Given the description of an element on the screen output the (x, y) to click on. 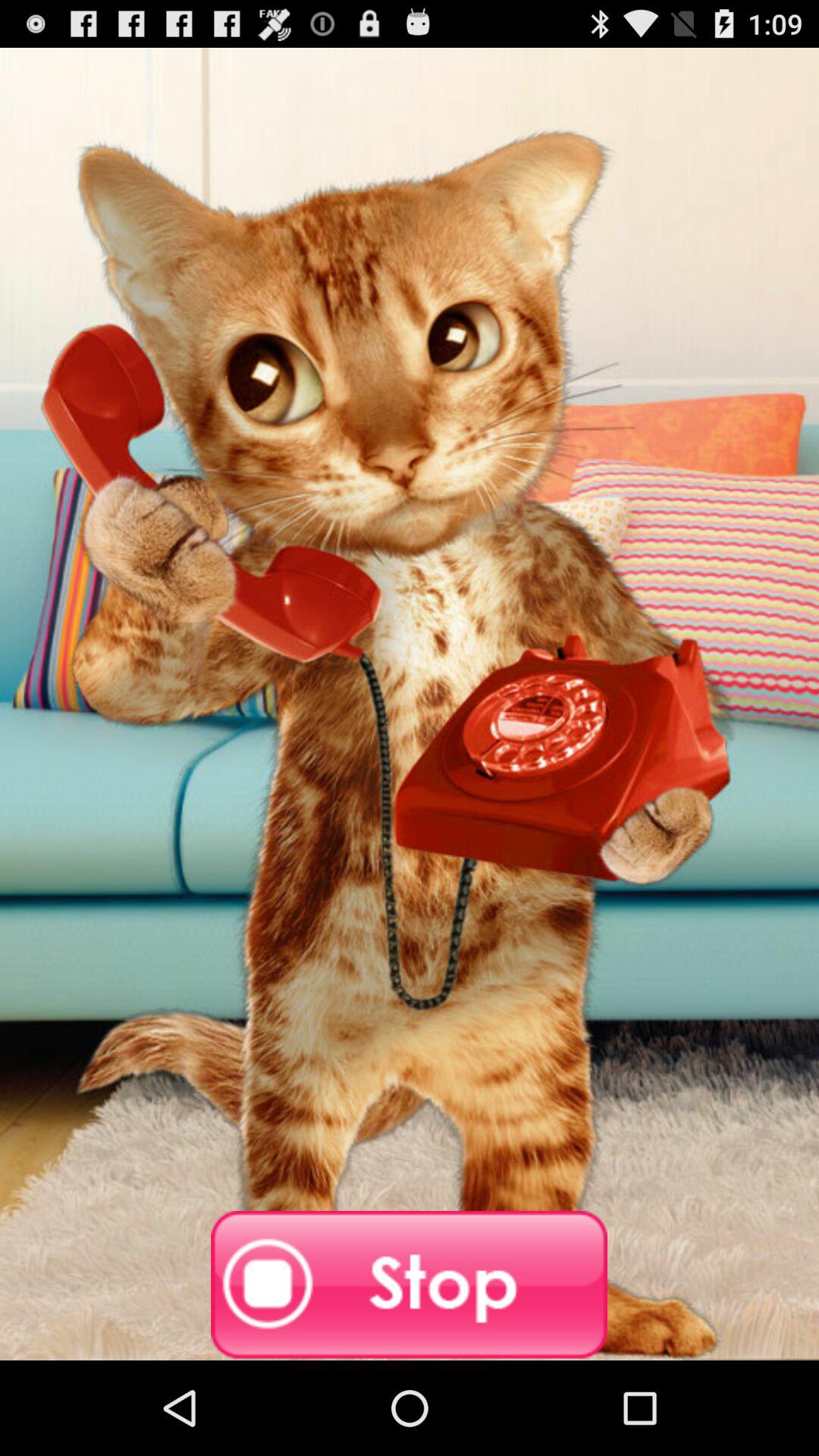
stop (409, 1285)
